Given the description of an element on the screen output the (x, y) to click on. 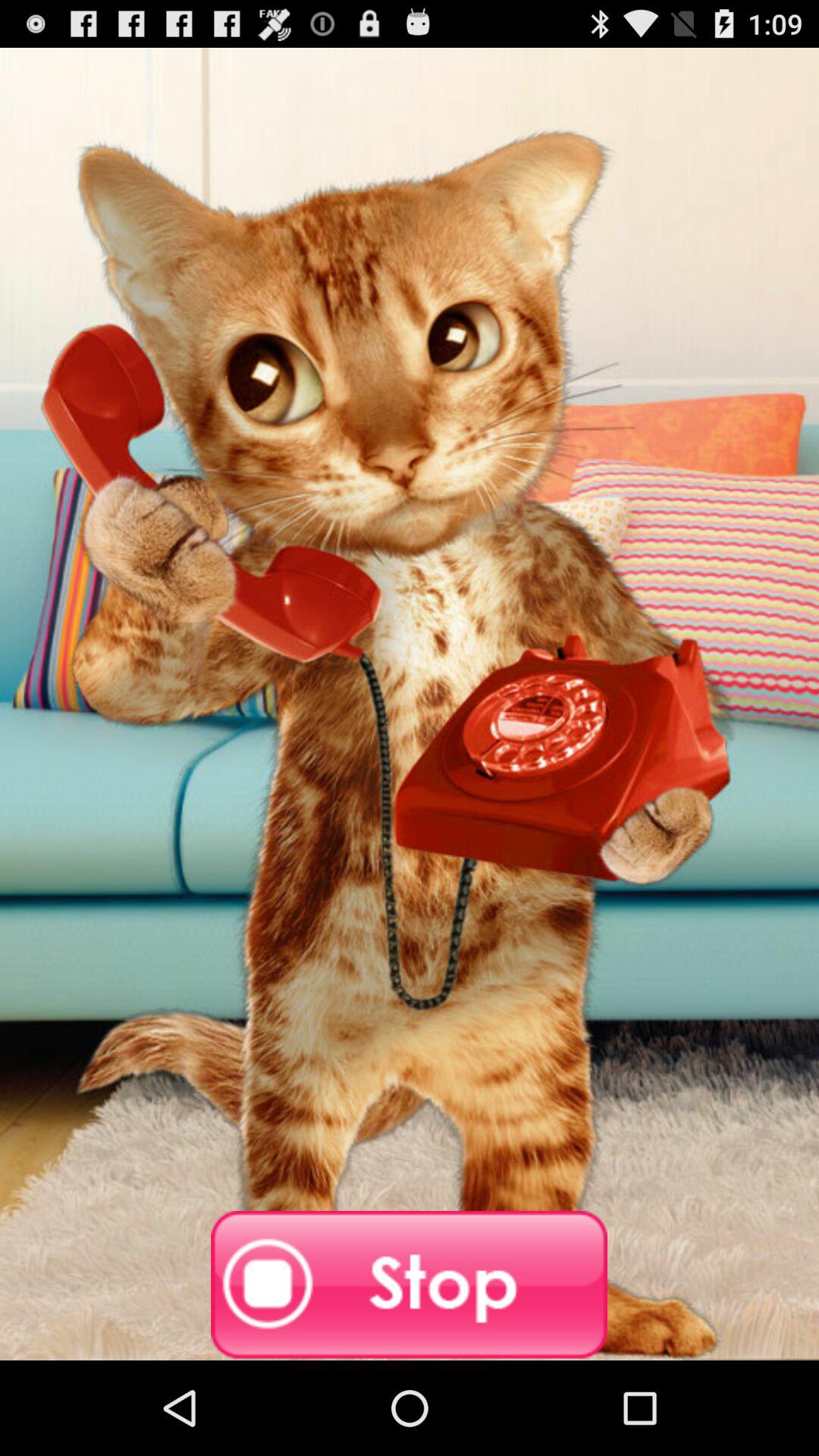
stop (409, 1285)
